Given the description of an element on the screen output the (x, y) to click on. 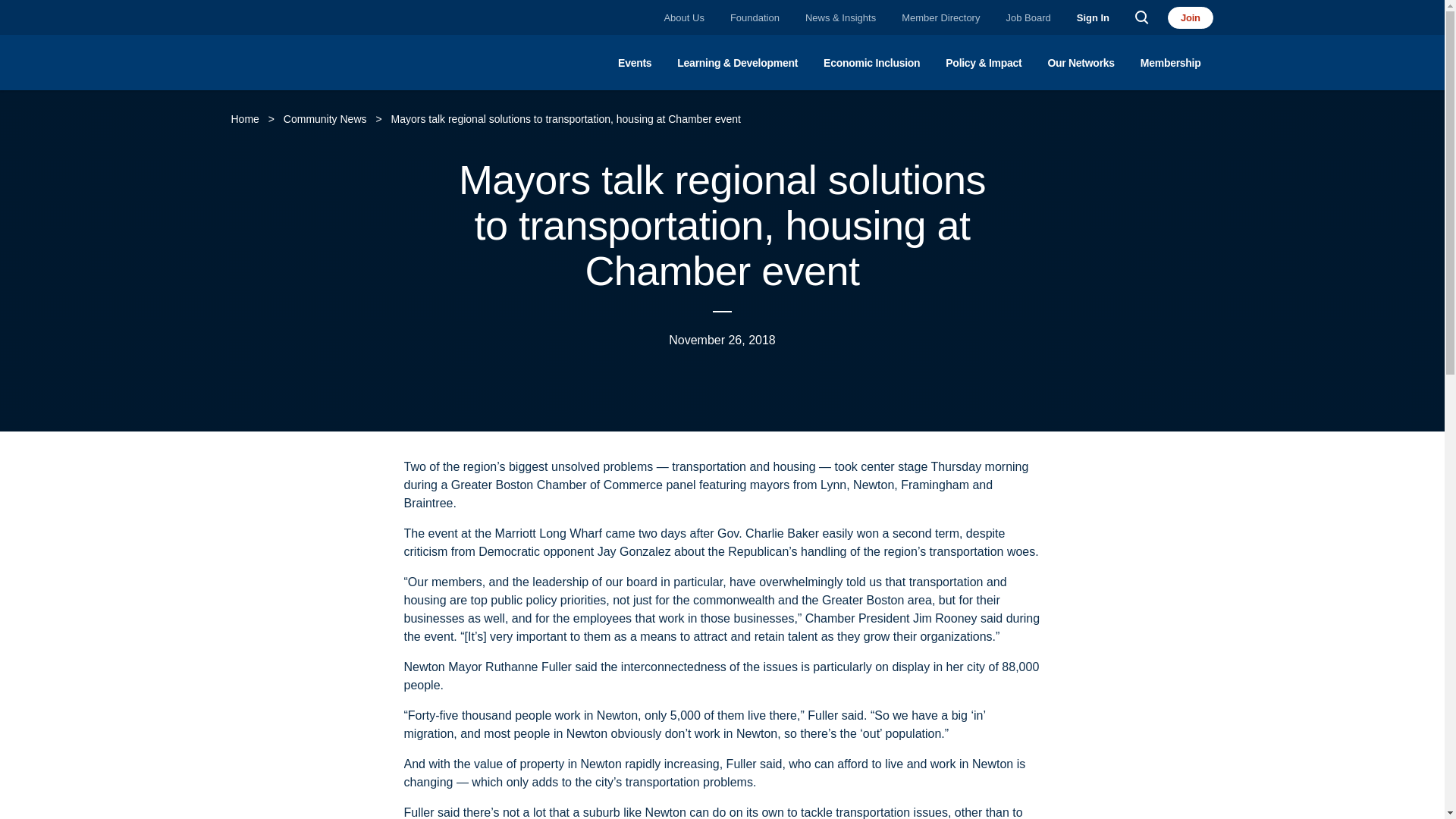
Sign In (1093, 17)
Search Button (1141, 17)
About Us (683, 17)
Economic Inclusion (872, 73)
Member Directory (940, 17)
Foundation (754, 17)
Join (1189, 17)
Events (633, 73)
Home (247, 119)
Job Board (1027, 17)
